Given the description of an element on the screen output the (x, y) to click on. 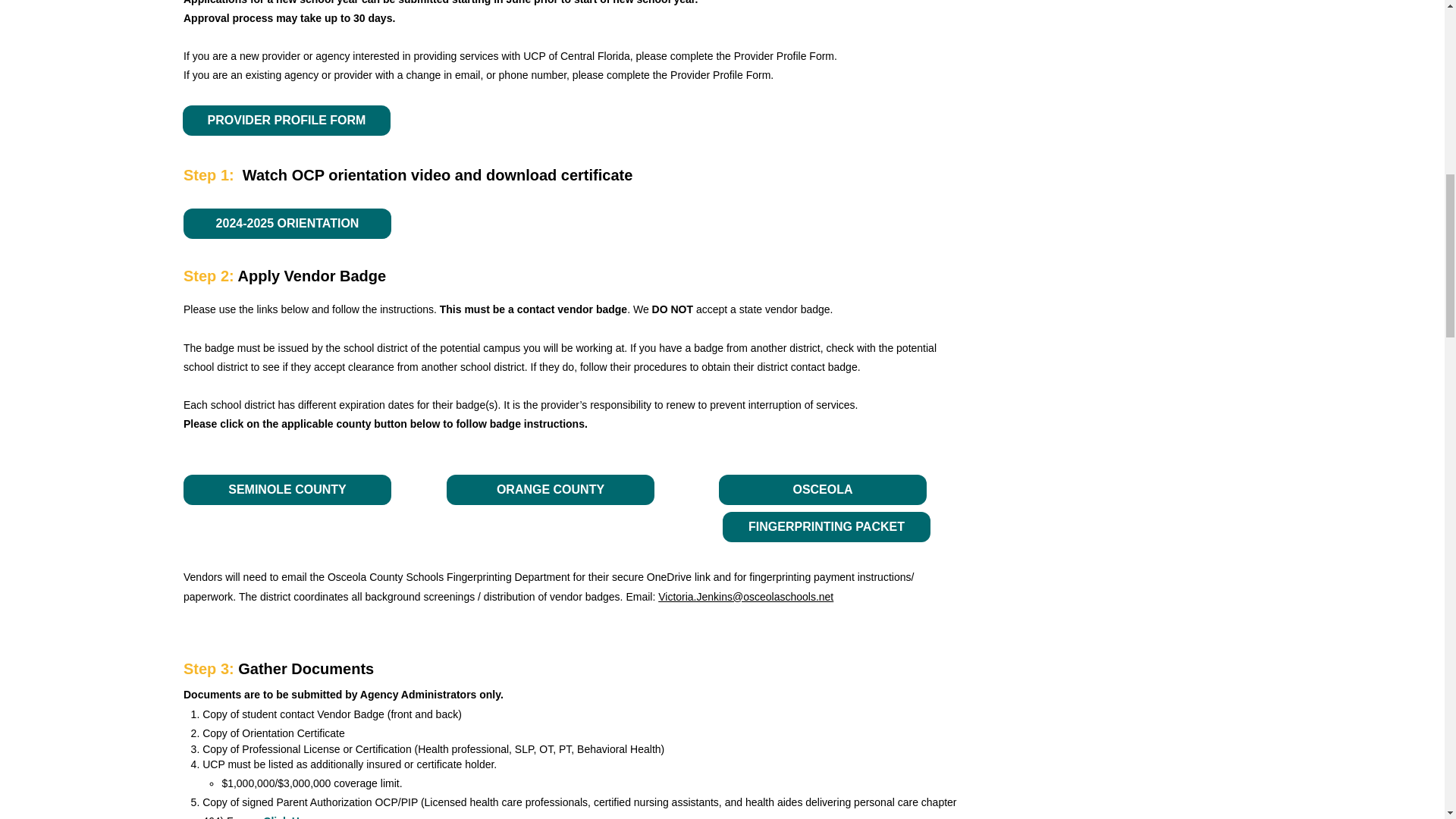
ORANGE COUNTY (549, 490)
SEMINOLE COUNTY (287, 490)
PROVIDER PROFILE FORM (286, 120)
FINGERPRINTING PACKET (826, 526)
OSCEOLA (822, 490)
Click Here  (288, 816)
2024-2025 ORIENTATION (287, 223)
